Given the description of an element on the screen output the (x, y) to click on. 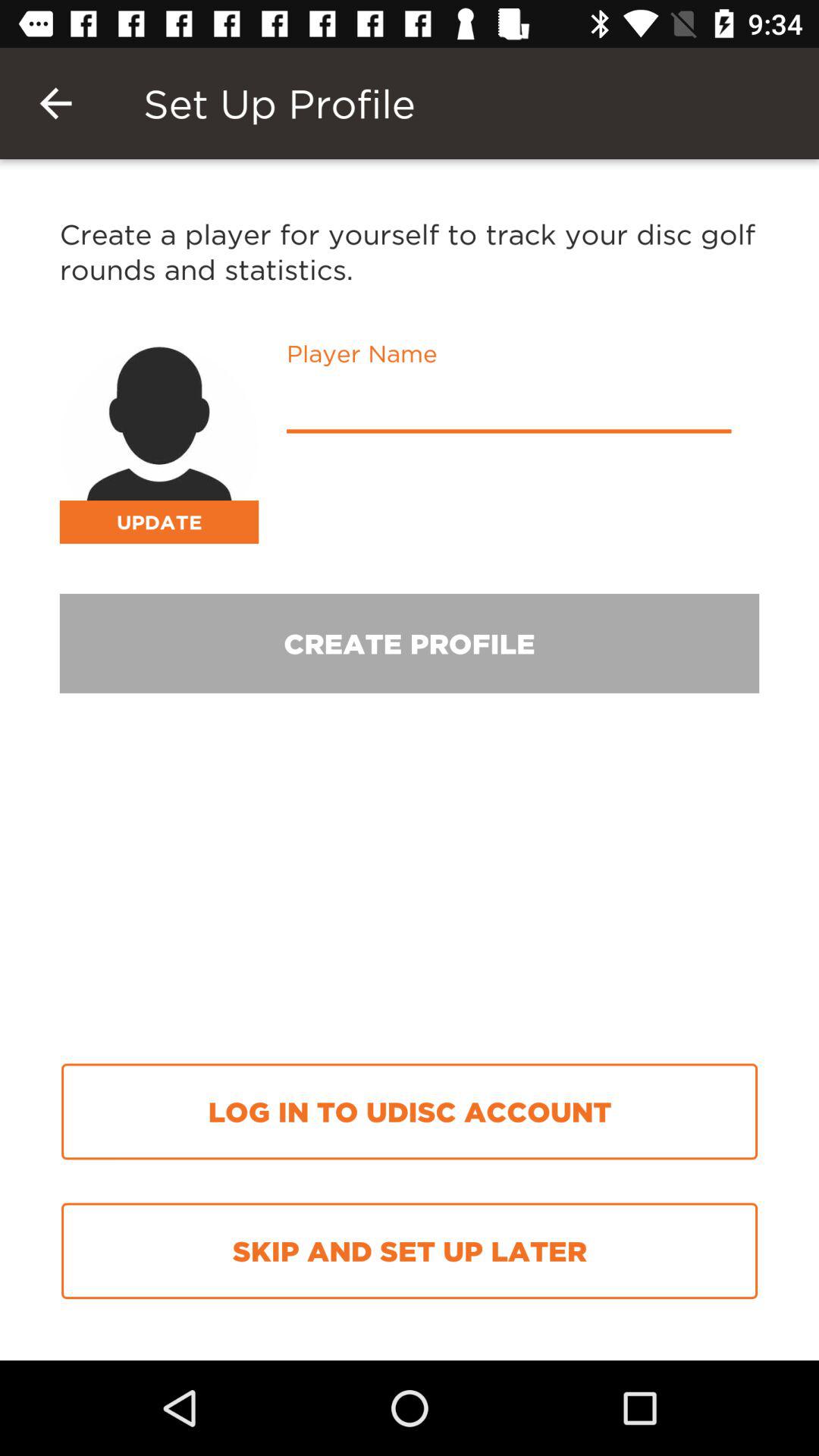
name box (508, 406)
